Given the description of an element on the screen output the (x, y) to click on. 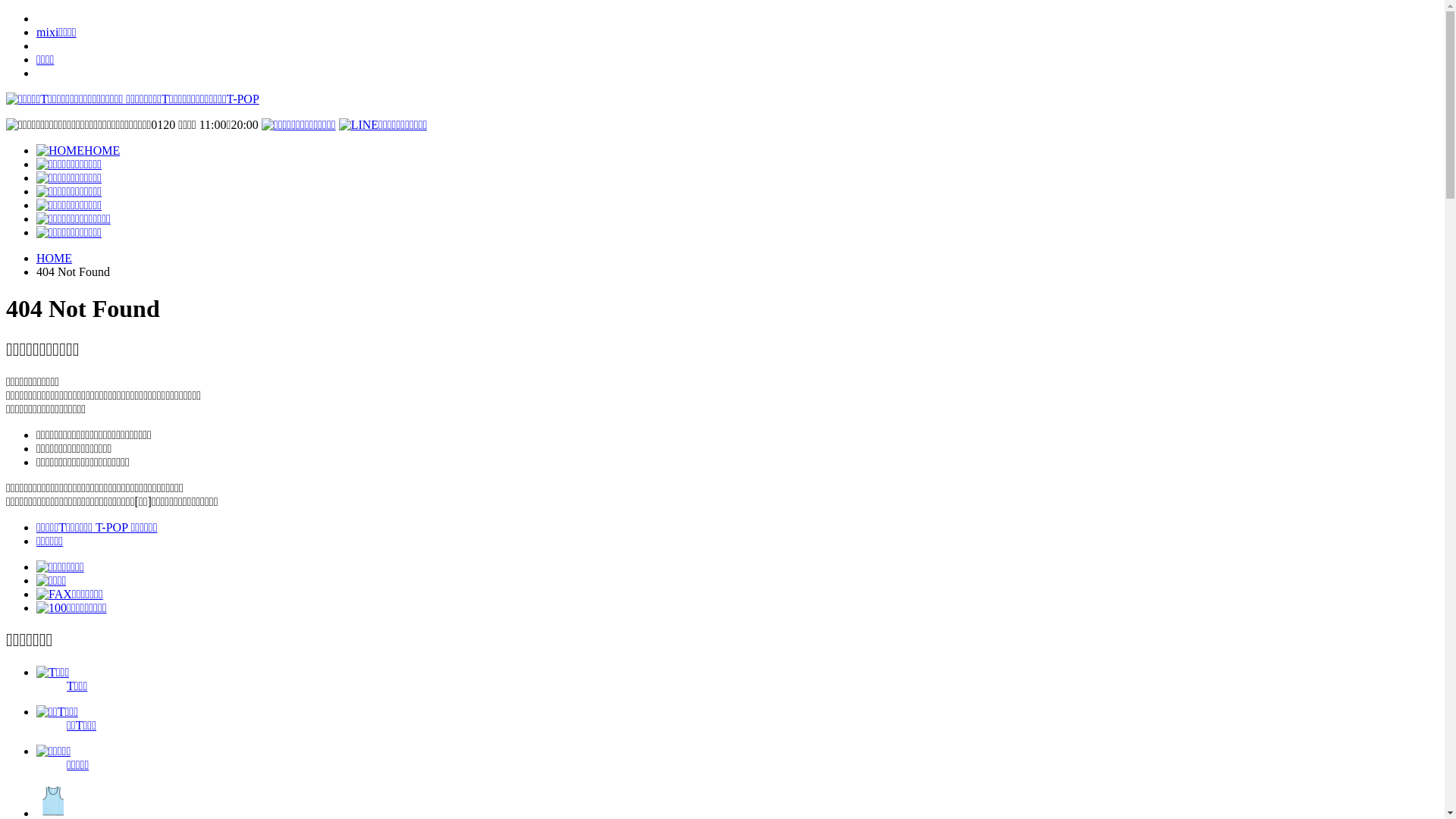
HOME Element type: text (54, 257)
HOME Element type: text (77, 150)
